Given the description of an element on the screen output the (x, y) to click on. 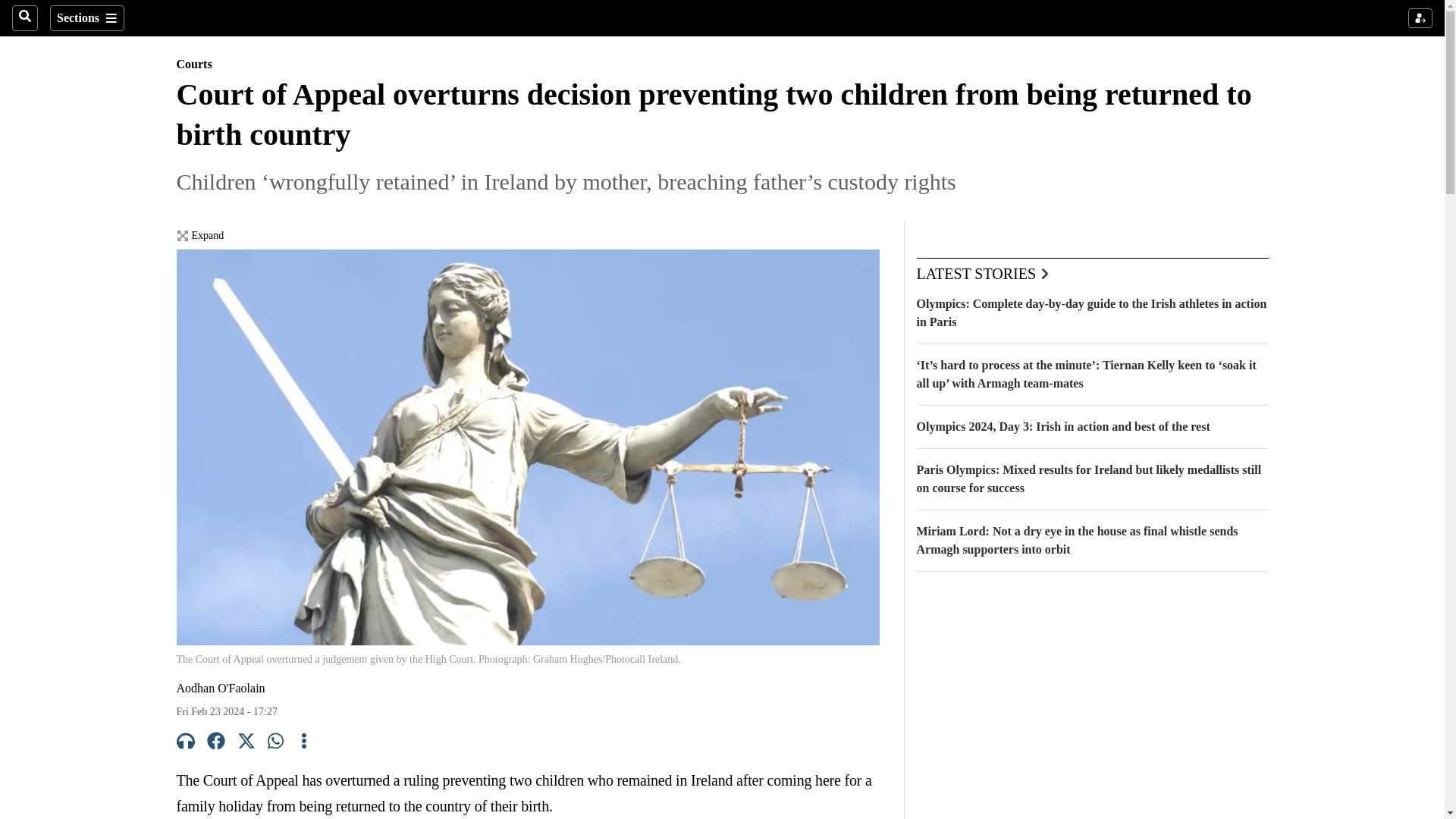
Facebook (215, 743)
WhatsApp (275, 743)
X (244, 743)
Sections (86, 17)
